Given the description of an element on the screen output the (x, y) to click on. 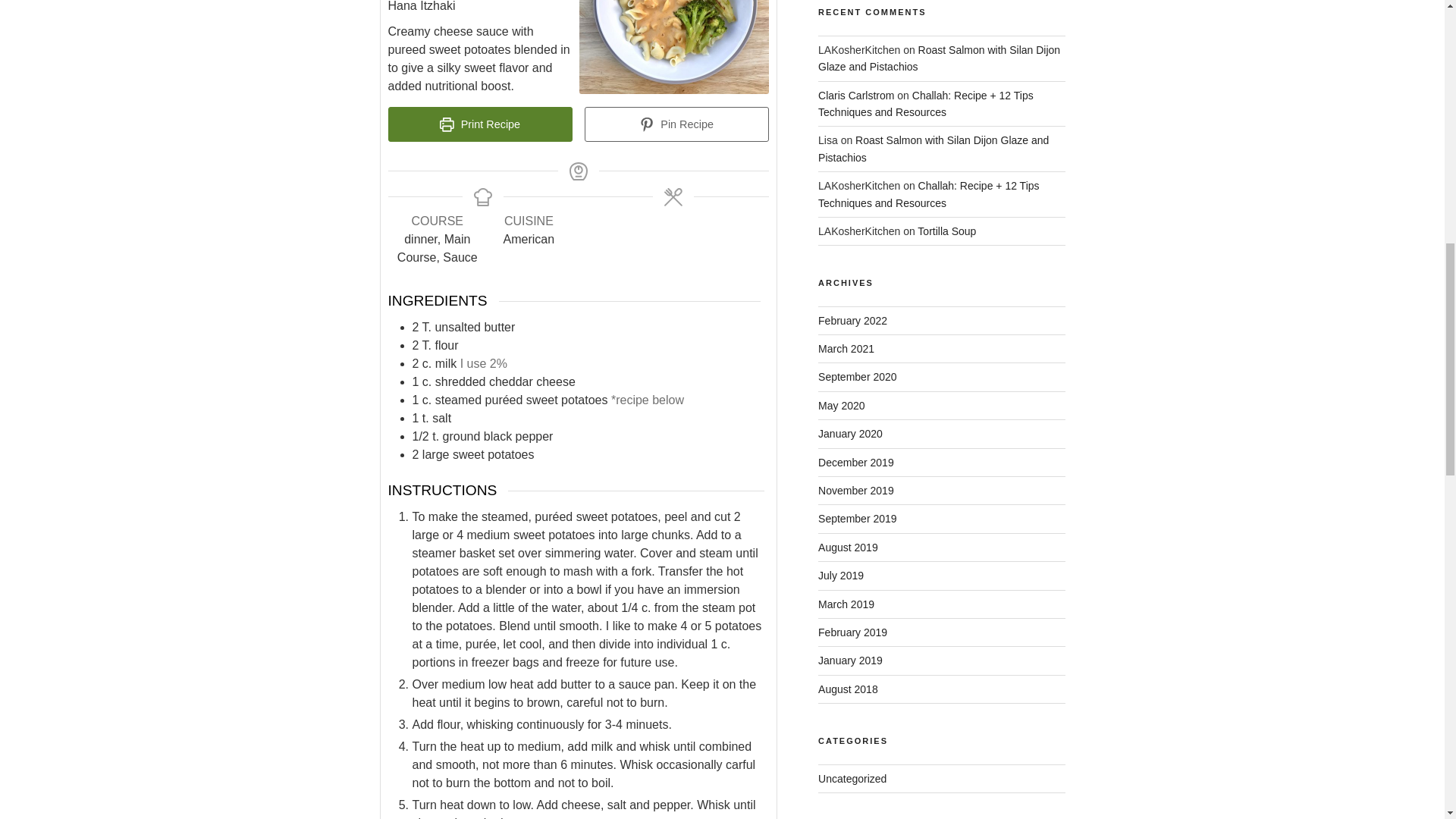
Tortilla Soup (946, 231)
Pin Recipe (676, 124)
January 2020 (850, 433)
August 2019 (847, 547)
February 2022 (852, 320)
Roast Salmon with Silan Dijon Glaze and Pistachios (933, 148)
December 2019 (855, 462)
January 2019 (850, 660)
November 2019 (855, 490)
Claris Carlstrom (855, 95)
